Given the description of an element on the screen output the (x, y) to click on. 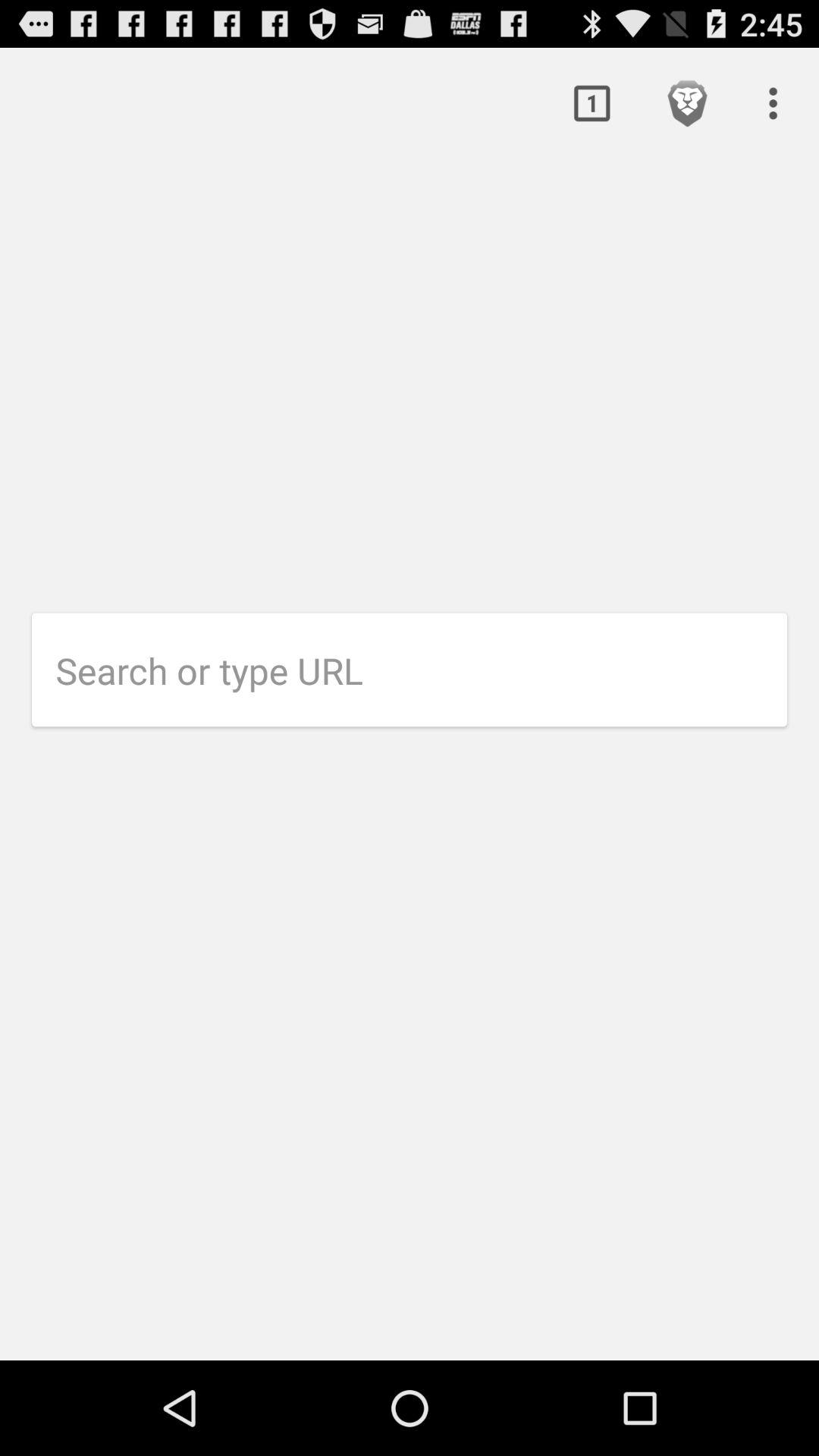
type url (421, 670)
